Given the description of an element on the screen output the (x, y) to click on. 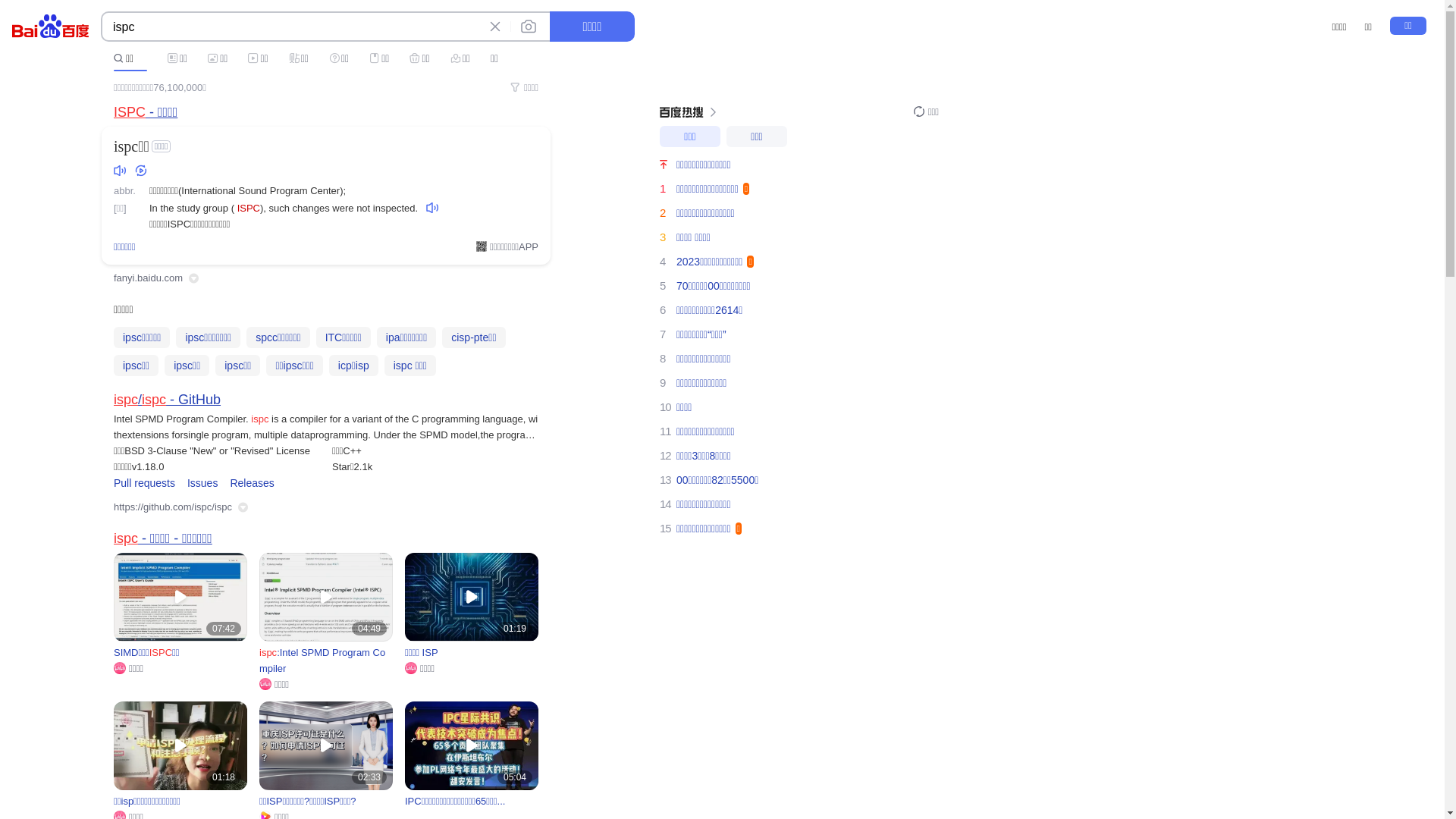
Issues Element type: text (202, 482)
ispc:Intel SPMD Program Compiler Element type: text (325, 660)
Pull requests Element type: text (144, 482)
Releases Element type: text (251, 482)
ispc/ispc - GitHub Element type: text (166, 398)
https://github.com/ispc/ispc Element type: text (172, 505)
